Given the description of an element on the screen output the (x, y) to click on. 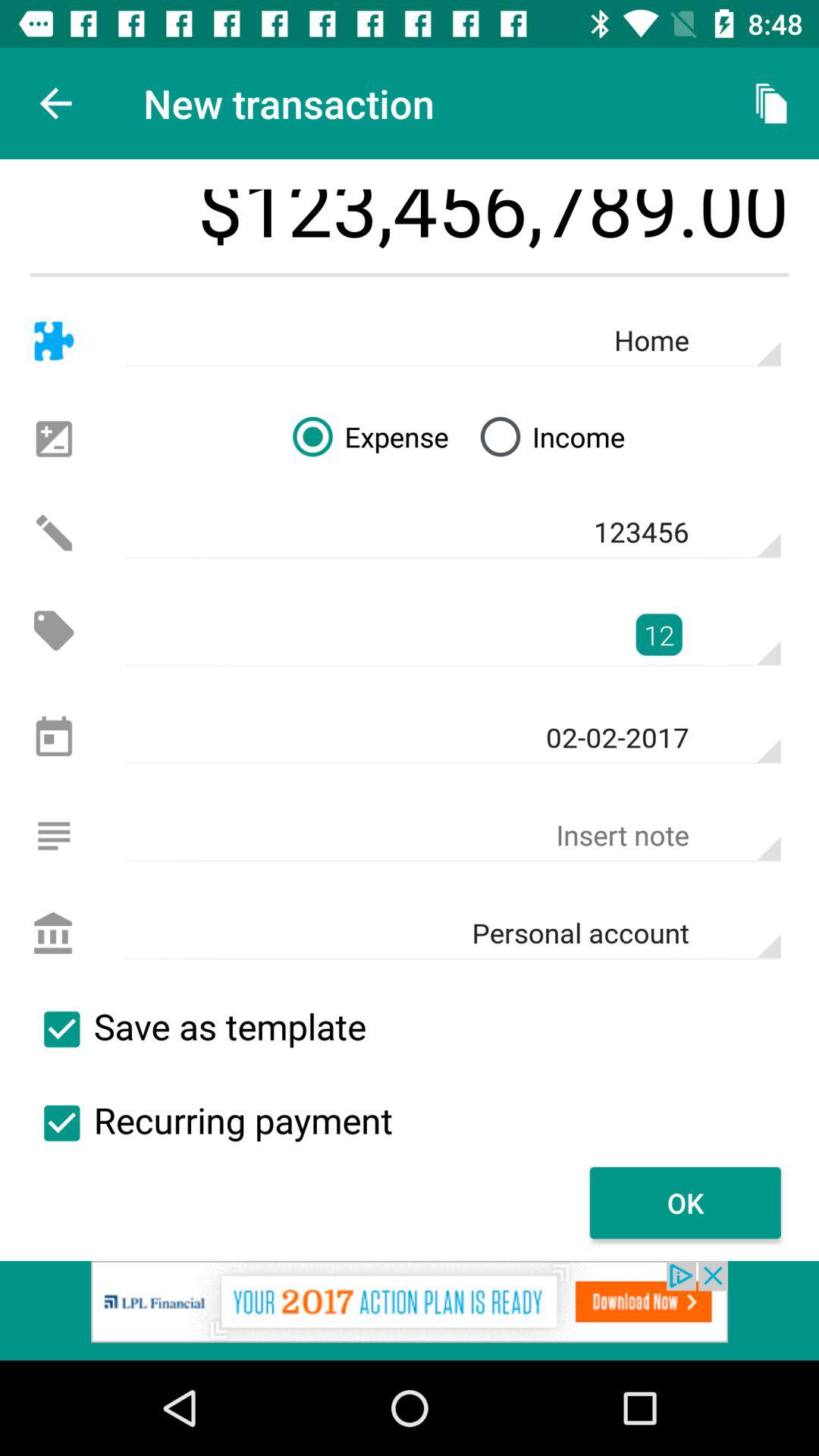
alerta para o icone (53, 532)
